Given the description of an element on the screen output the (x, y) to click on. 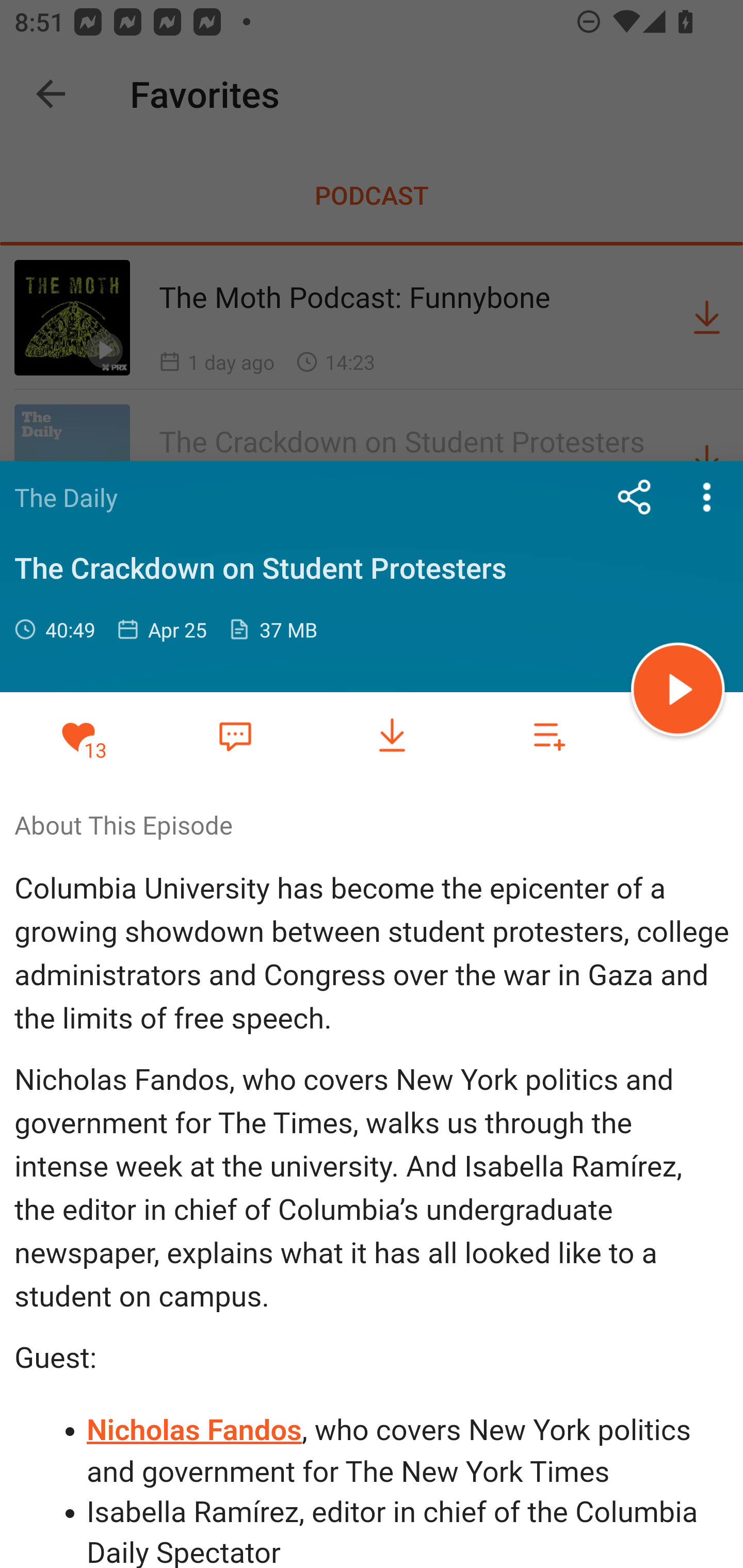
Share (634, 496)
more options (706, 496)
Play (677, 692)
Favorite (234, 735)
Remove from Favorites (78, 735)
Download (391, 735)
Add to playlist (548, 735)
